Given the description of an element on the screen output the (x, y) to click on. 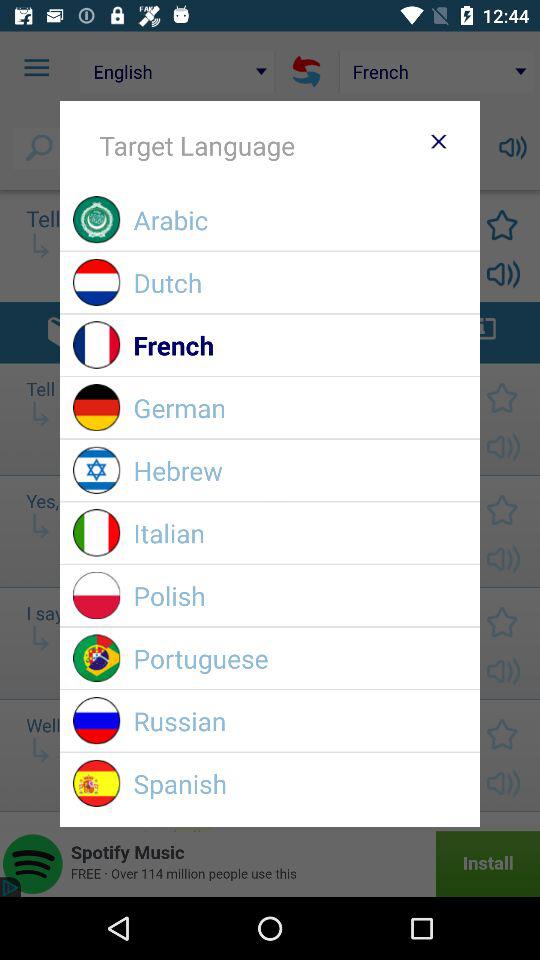
swipe until french item (300, 344)
